Given the description of an element on the screen output the (x, y) to click on. 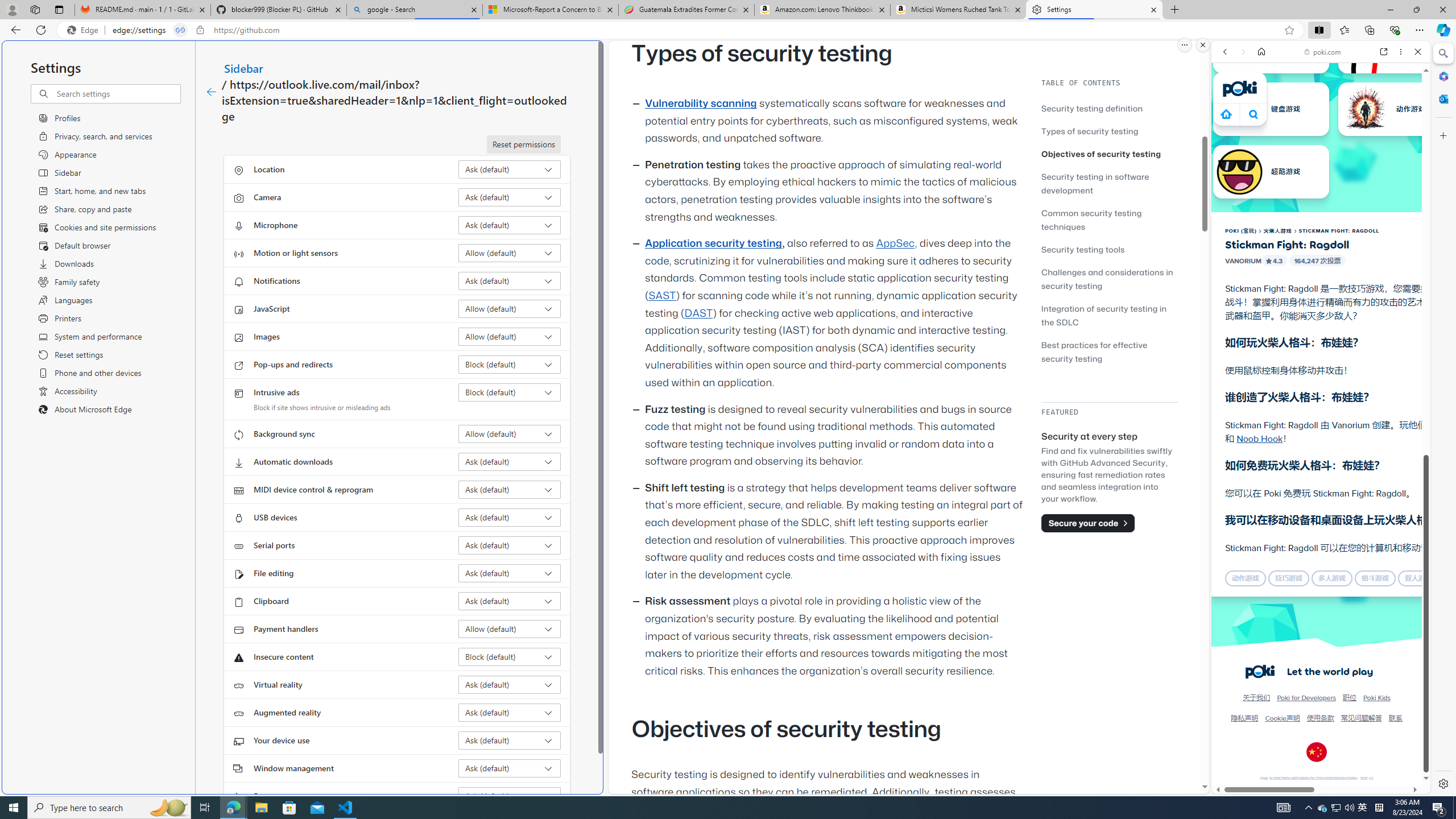
Click to scroll right (1407, 549)
Edge (84, 29)
Vulnerability scanning (701, 103)
Hills of Steel (1253, 574)
